Given the description of an element on the screen output the (x, y) to click on. 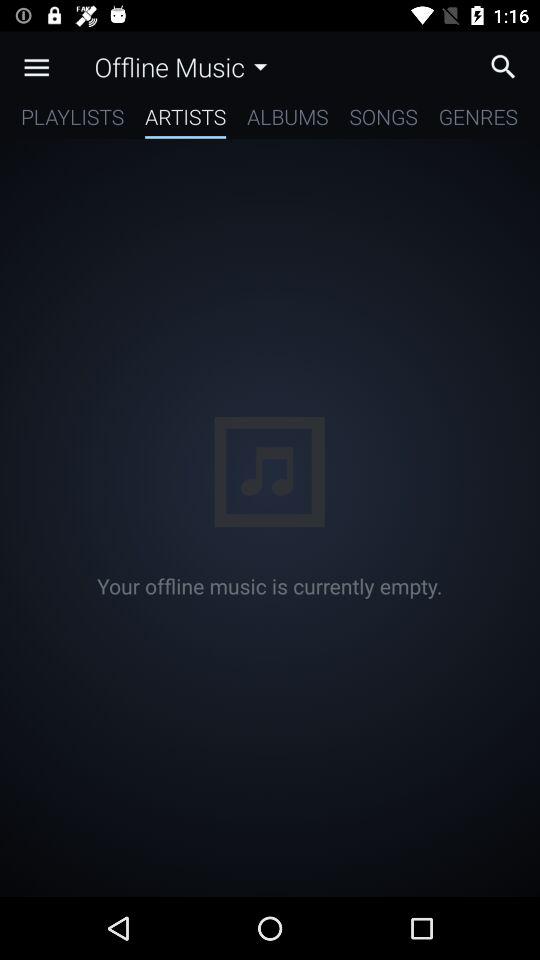
choose the item to the left of the offline music (36, 67)
